Given the description of an element on the screen output the (x, y) to click on. 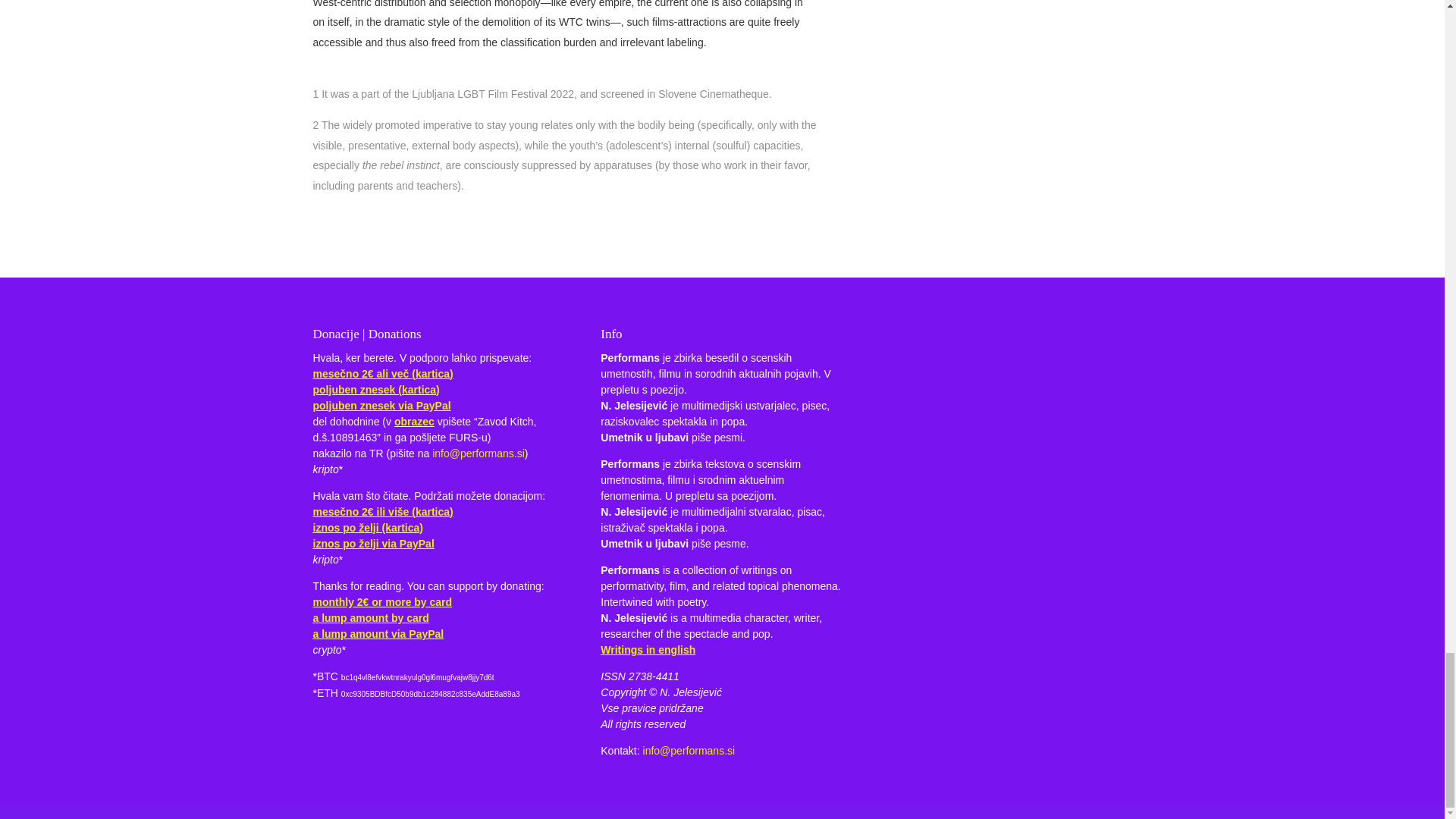
a lump amount via PayPal (378, 633)
Writings in english (647, 649)
a lump amount by card (370, 617)
poljuben znesek via PayPal (381, 405)
obrazec (413, 421)
